Given the description of an element on the screen output the (x, y) to click on. 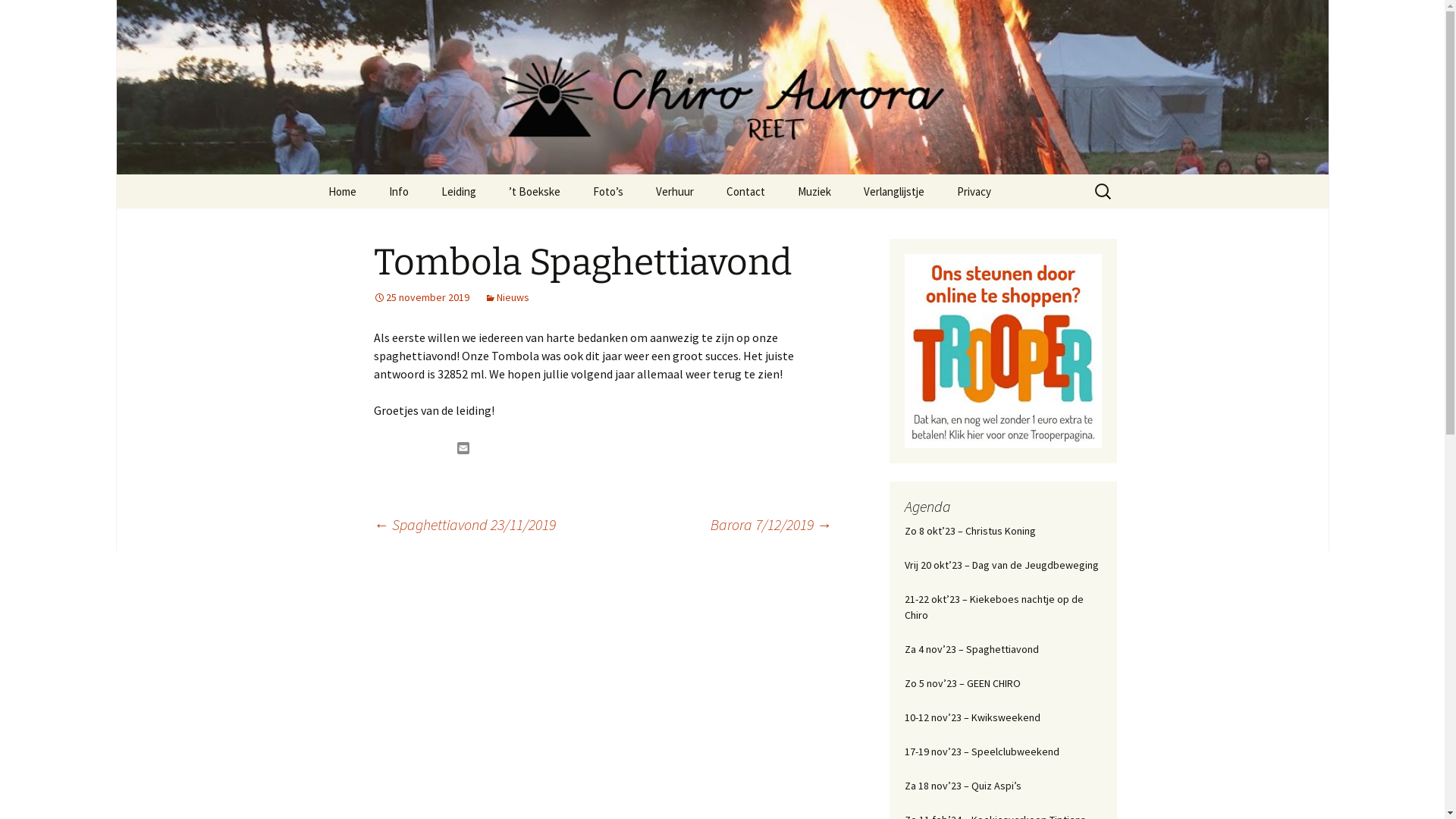
Home Element type: text (341, 191)
Muziek Element type: text (814, 191)
Leiding Element type: text (458, 191)
Info Element type: text (398, 191)
Zoeken Element type: text (18, 16)
25 november 2019 Element type: text (420, 297)
Email Element type: text (462, 448)
Afdelingen Element type: text (448, 225)
Verhuur Element type: text (674, 191)
Contact Element type: text (745, 191)
Kiekeboes Element type: text (501, 225)
Privacy Element type: text (973, 191)
Nieuws Element type: text (505, 297)
Verlanglijstje Element type: text (892, 191)
Algemene info Element type: text (715, 225)
